Given the description of an element on the screen output the (x, y) to click on. 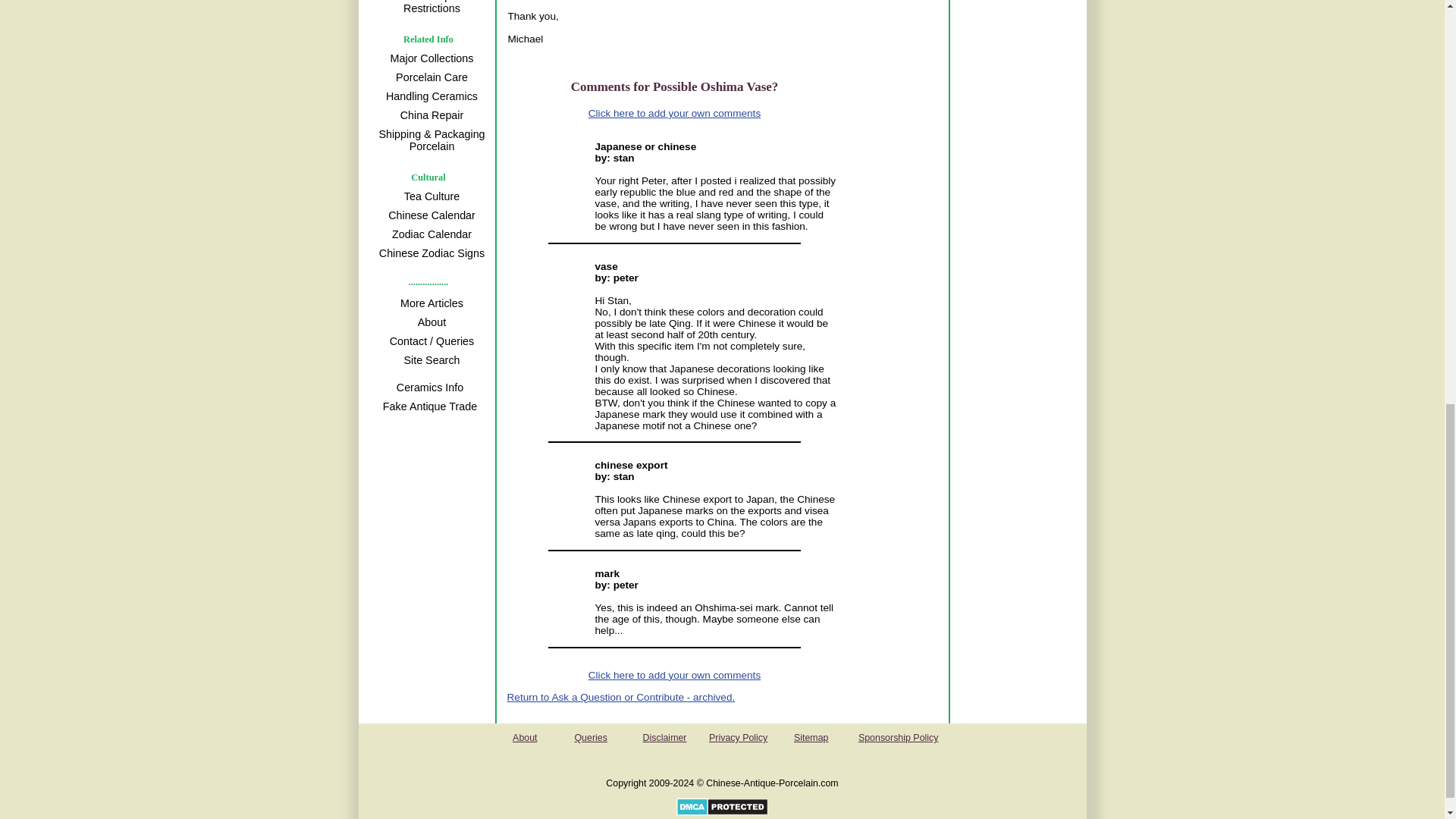
Porcelain Care (429, 76)
Tea Culture (429, 196)
China Repair (429, 115)
Click here to add your own comments (674, 674)
Major Collections (429, 57)
Return to Ask a Question or Contribute - archived. (620, 696)
DMCA (722, 812)
Click here to add your own comments (674, 112)
China Export Restrictions (429, 8)
Handling Ceramics (429, 95)
